Given the description of an element on the screen output the (x, y) to click on. 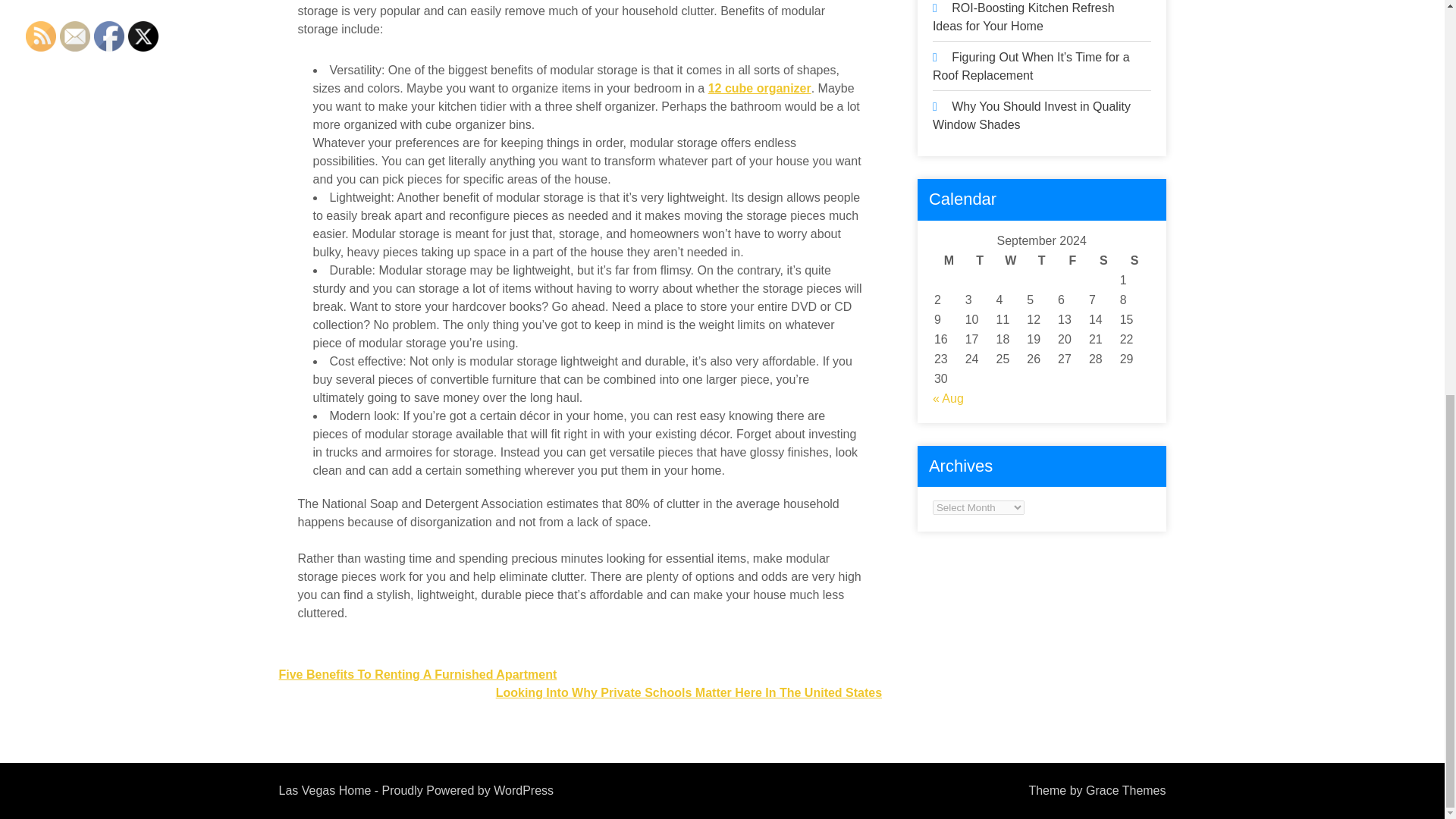
Sunday (1134, 260)
Thursday (1041, 260)
RSS (41, 36)
Saturday (1103, 260)
ROI-Boosting Kitchen Refresh Ideas for Your Home (1024, 16)
Twitter (143, 36)
Why You Should Invest in Quality Window Shades (1032, 115)
Wednesday (1010, 260)
Follow by Email (74, 36)
Friday (1072, 260)
